Given the description of an element on the screen output the (x, y) to click on. 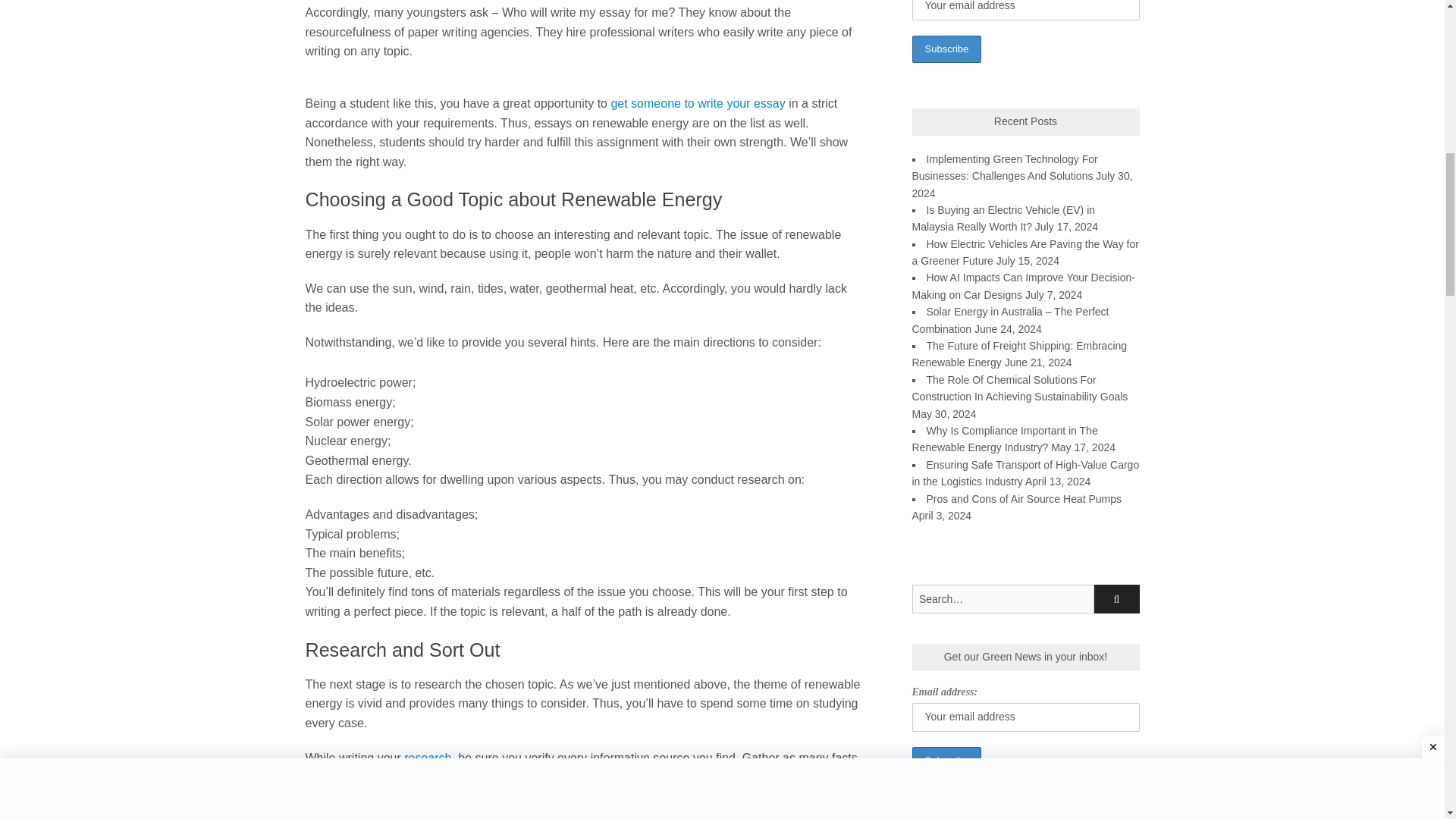
get someone to write your essay (697, 103)
Subscribe (946, 49)
research (427, 757)
Subscribe (946, 760)
